Given the description of an element on the screen output the (x, y) to click on. 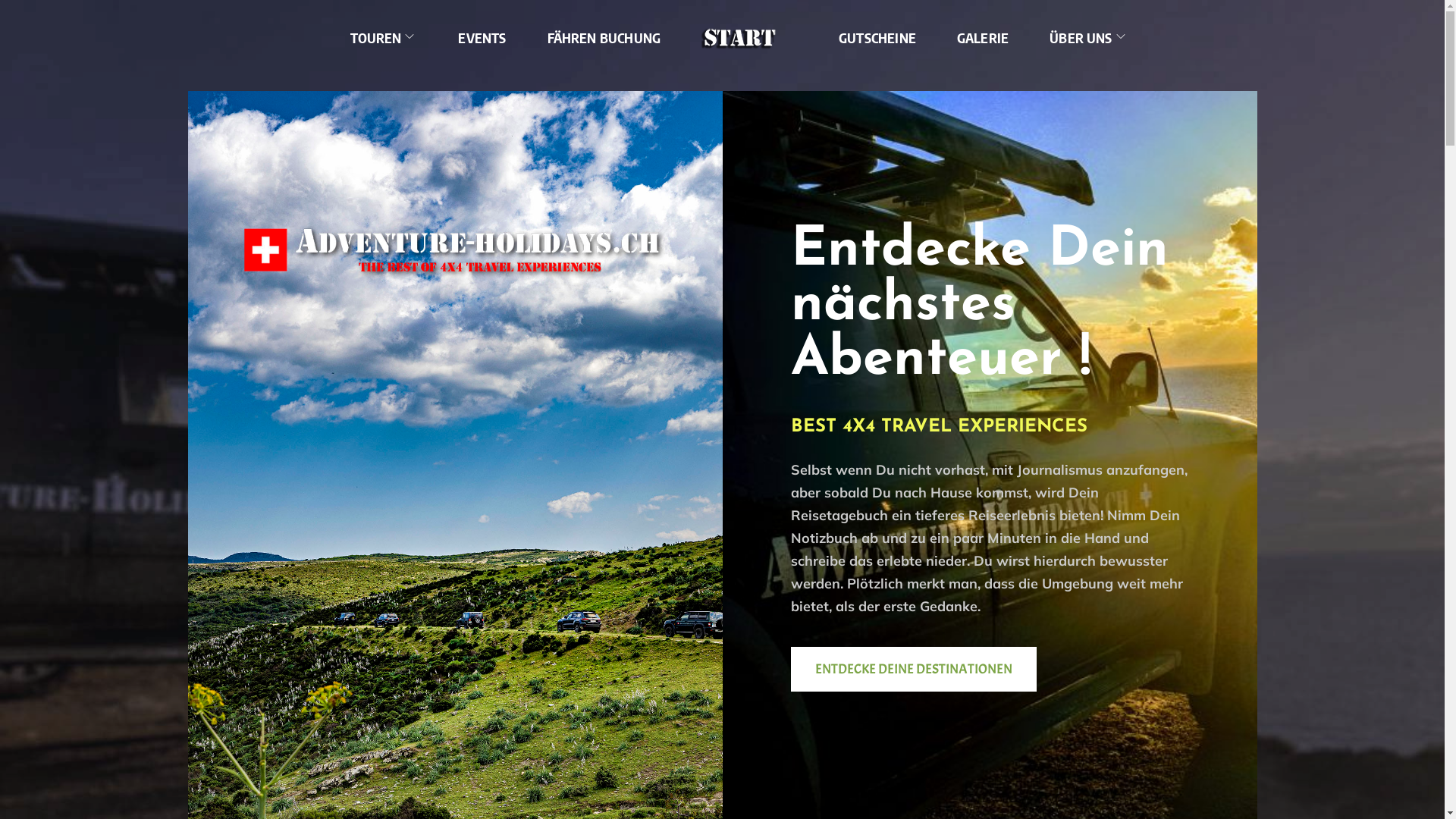
Adventure Holidays Element type: text (894, 53)
GUTSCHEINE Element type: text (877, 37)
GALERIE Element type: text (982, 37)
ENTDECKE DEINE DESTINATIONEN Element type: text (912, 668)
EVENTS Element type: text (481, 37)
TOUREN Element type: text (383, 37)
